Given the description of an element on the screen output the (x, y) to click on. 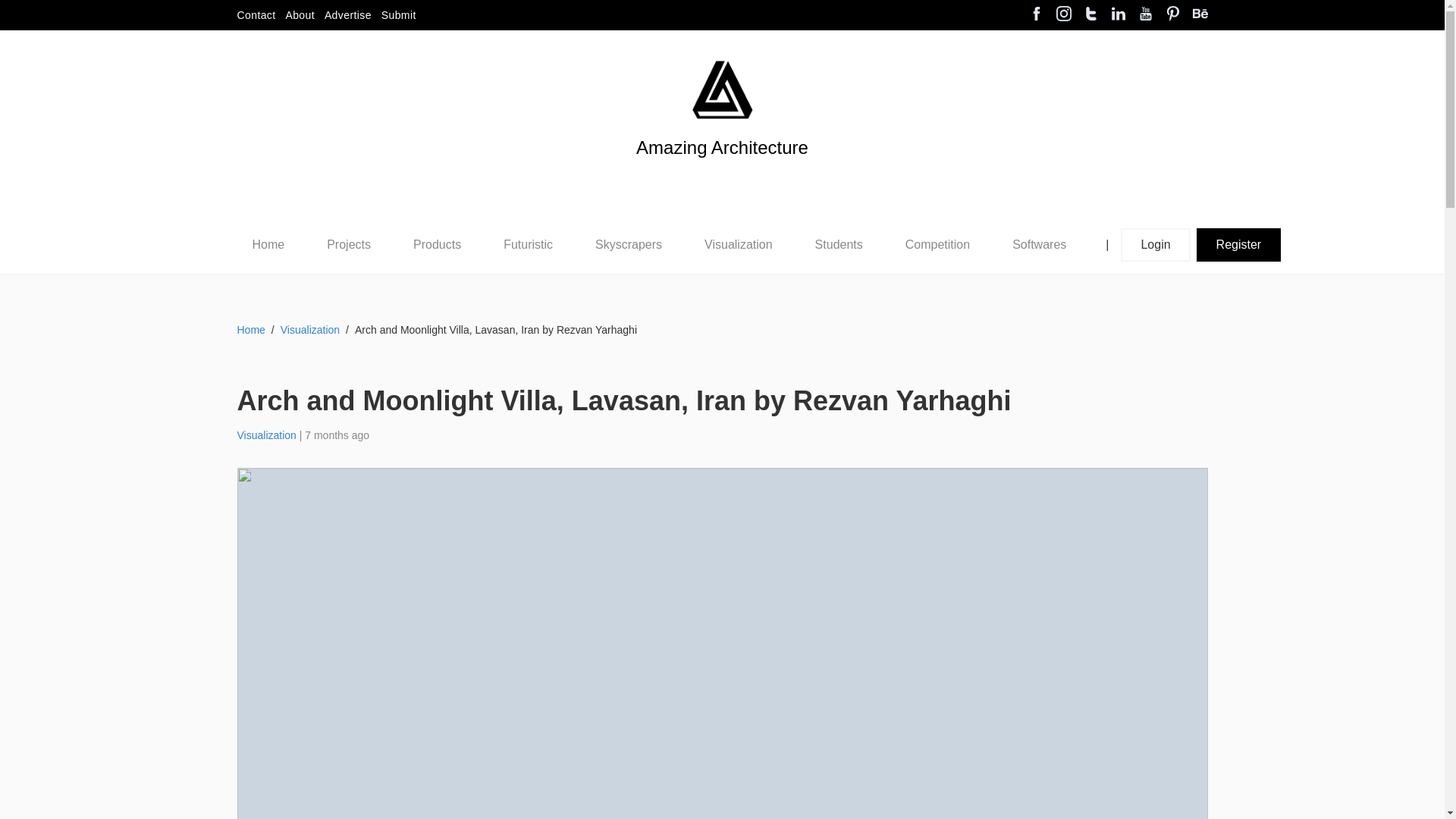
Visualization (738, 244)
About (299, 15)
Advertisement page (347, 15)
About us page (299, 15)
Home (267, 244)
Home (267, 244)
Projects (348, 244)
Products (437, 244)
Projects (348, 245)
Contact us page (255, 15)
Submit (398, 15)
Skyscrapers (628, 244)
Contact (255, 15)
Amazing Architecture (722, 173)
Advertise (347, 15)
